Given the description of an element on the screen output the (x, y) to click on. 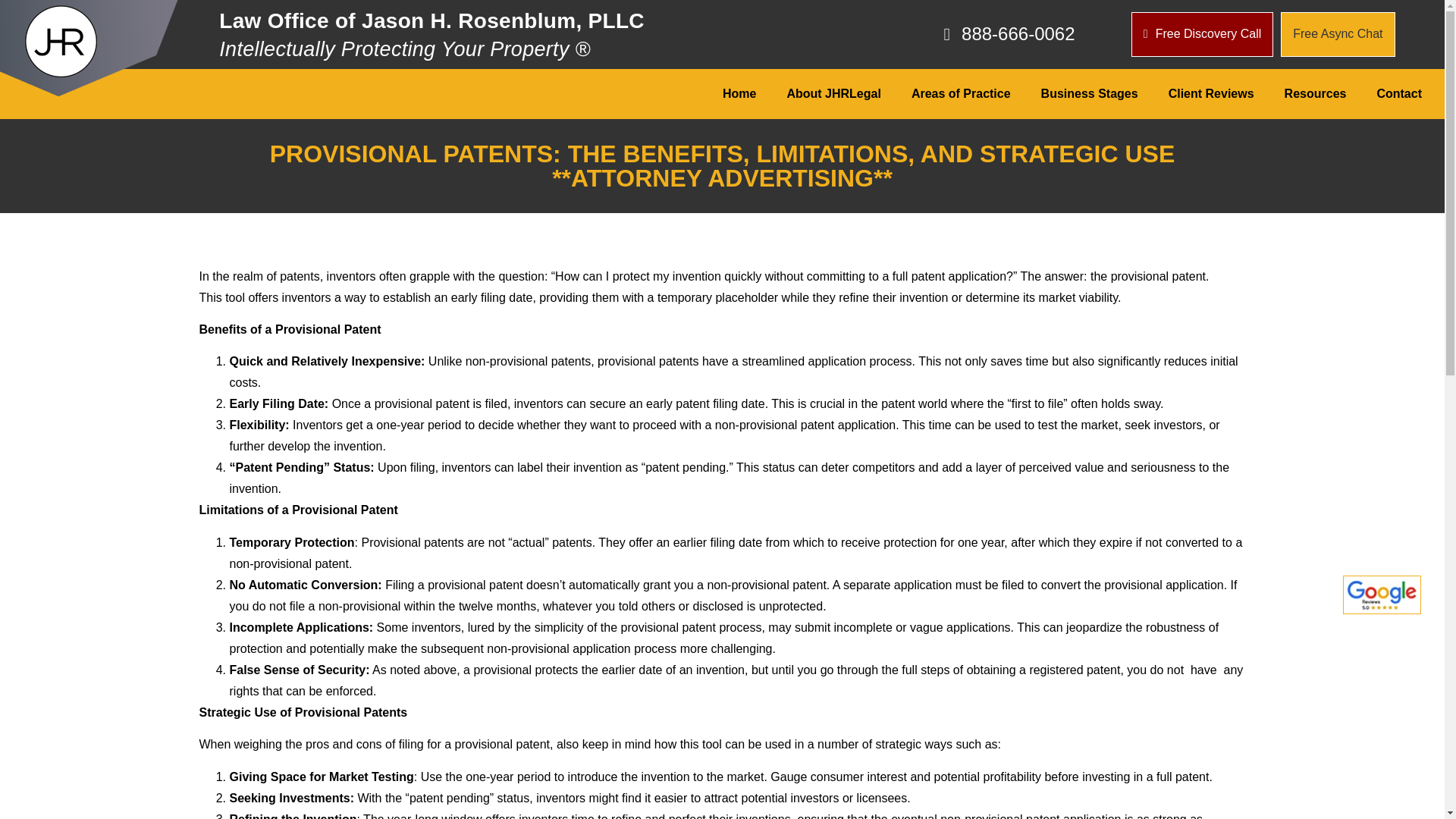
Free Async Chat (1337, 34)
Free Discovery Call (1201, 34)
Resources (1315, 93)
888-666-0062 (956, 34)
Business Stages (1089, 93)
Contact (1399, 93)
Client Reviews (1211, 93)
Home (739, 93)
About JHRLegal (833, 93)
Areas of Practice (961, 93)
